Given the description of an element on the screen output the (x, y) to click on. 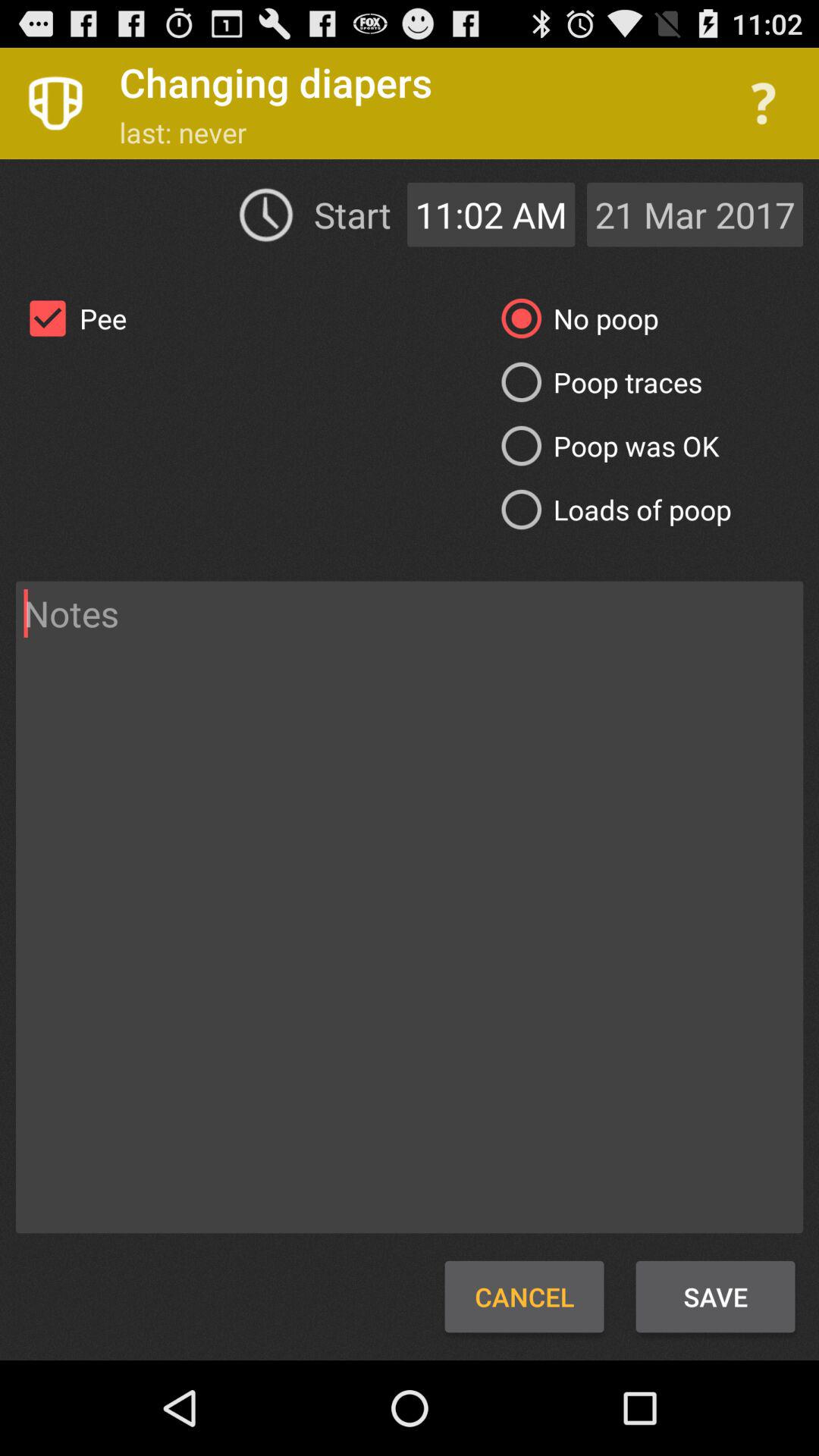
flip to the 21 mar 2017 icon (694, 214)
